Given the description of an element on the screen output the (x, y) to click on. 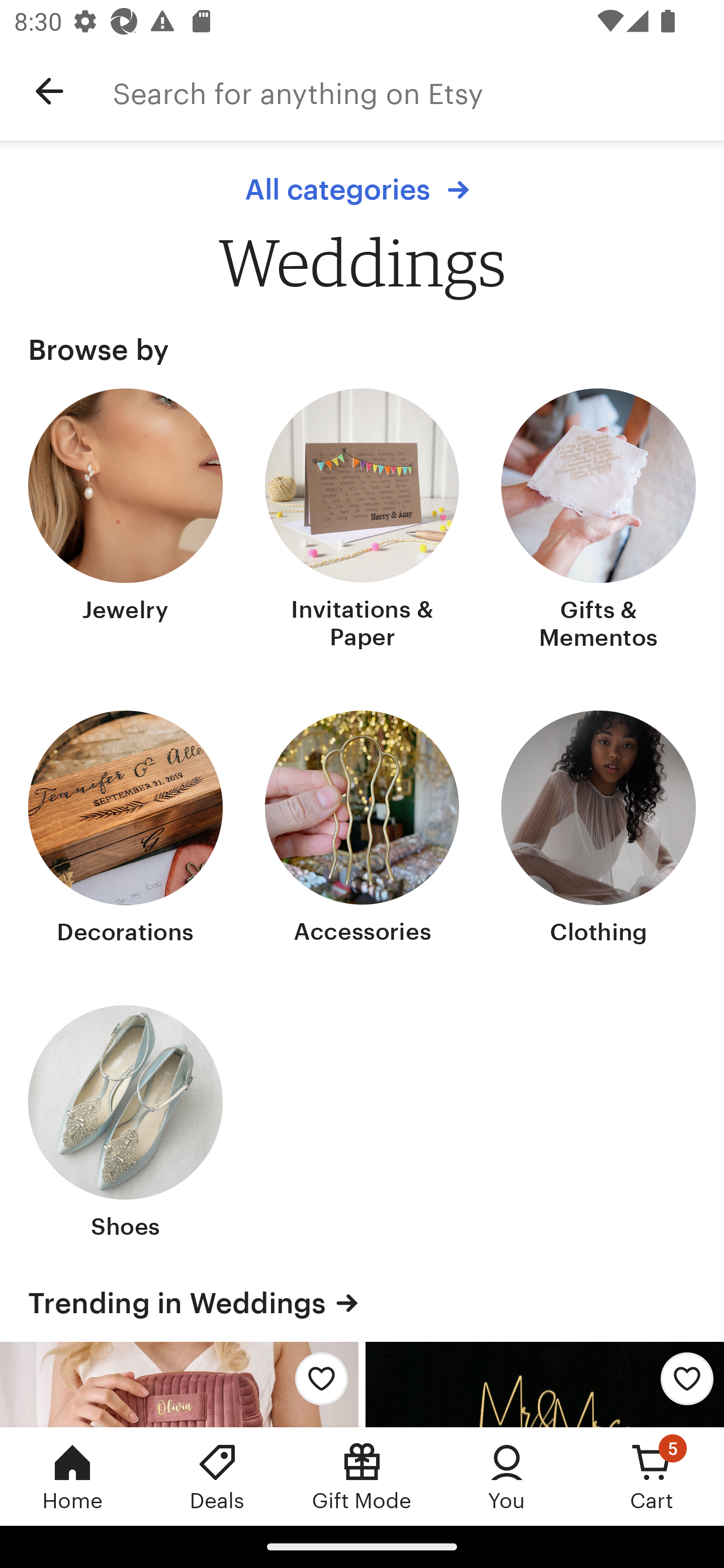
Navigate up (49, 91)
Search for anything on Etsy (418, 91)
All categories (361, 189)
Jewelry (125, 520)
Invitations & Paper (361, 520)
Gifts & Mementos (598, 520)
Decorations (125, 829)
Accessories (361, 829)
Clothing (598, 829)
Shoes (125, 1124)
Trending in Weddings  (361, 1302)
Deals (216, 1475)
Gift Mode (361, 1475)
You (506, 1475)
Cart, 5 new notifications Cart (651, 1475)
